Given the description of an element on the screen output the (x, y) to click on. 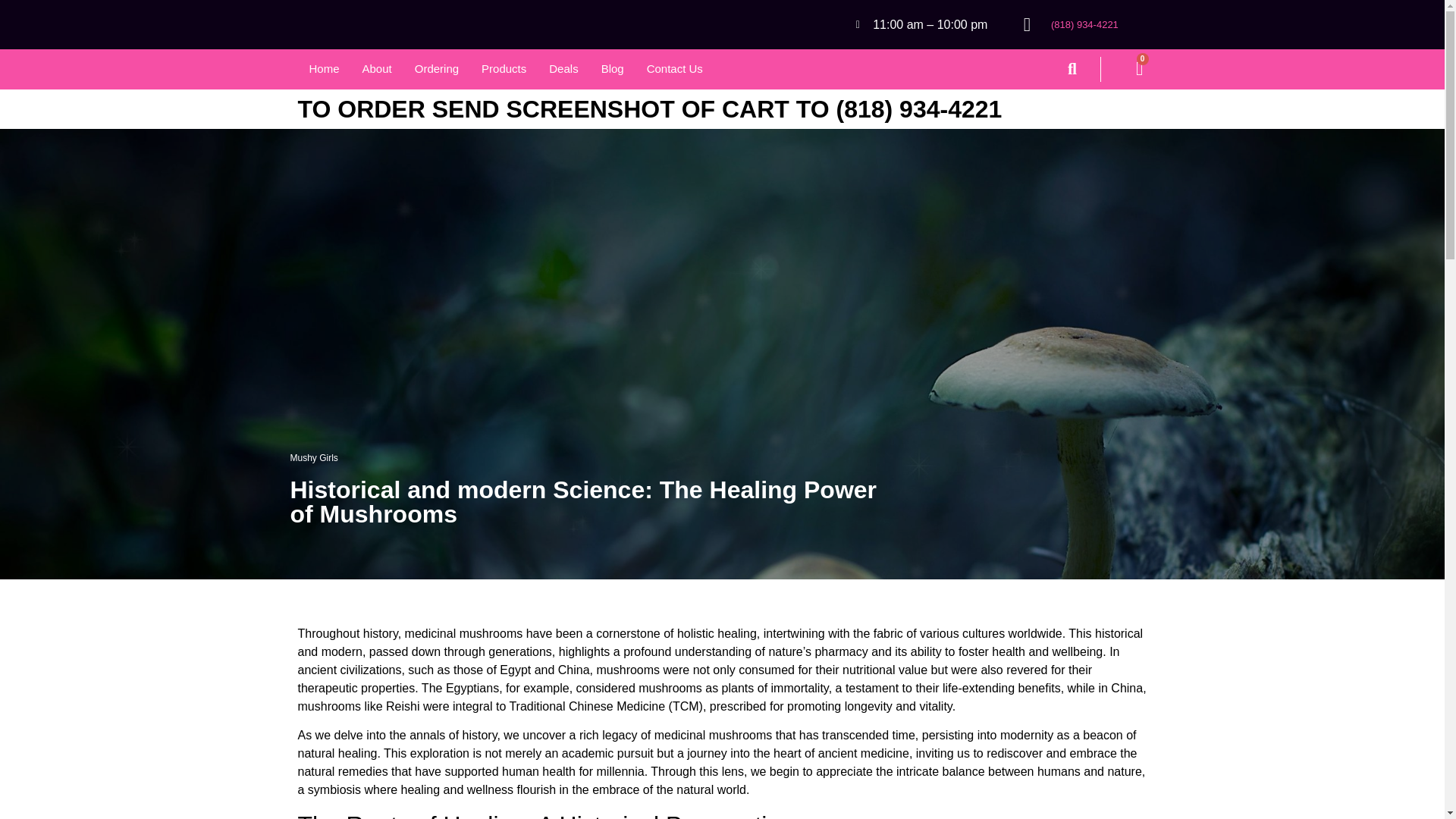
Deals (563, 69)
Ordering (436, 69)
Products (503, 69)
Contact Us (674, 69)
About (376, 69)
Home (323, 69)
Blog (611, 69)
